Given the description of an element on the screen output the (x, y) to click on. 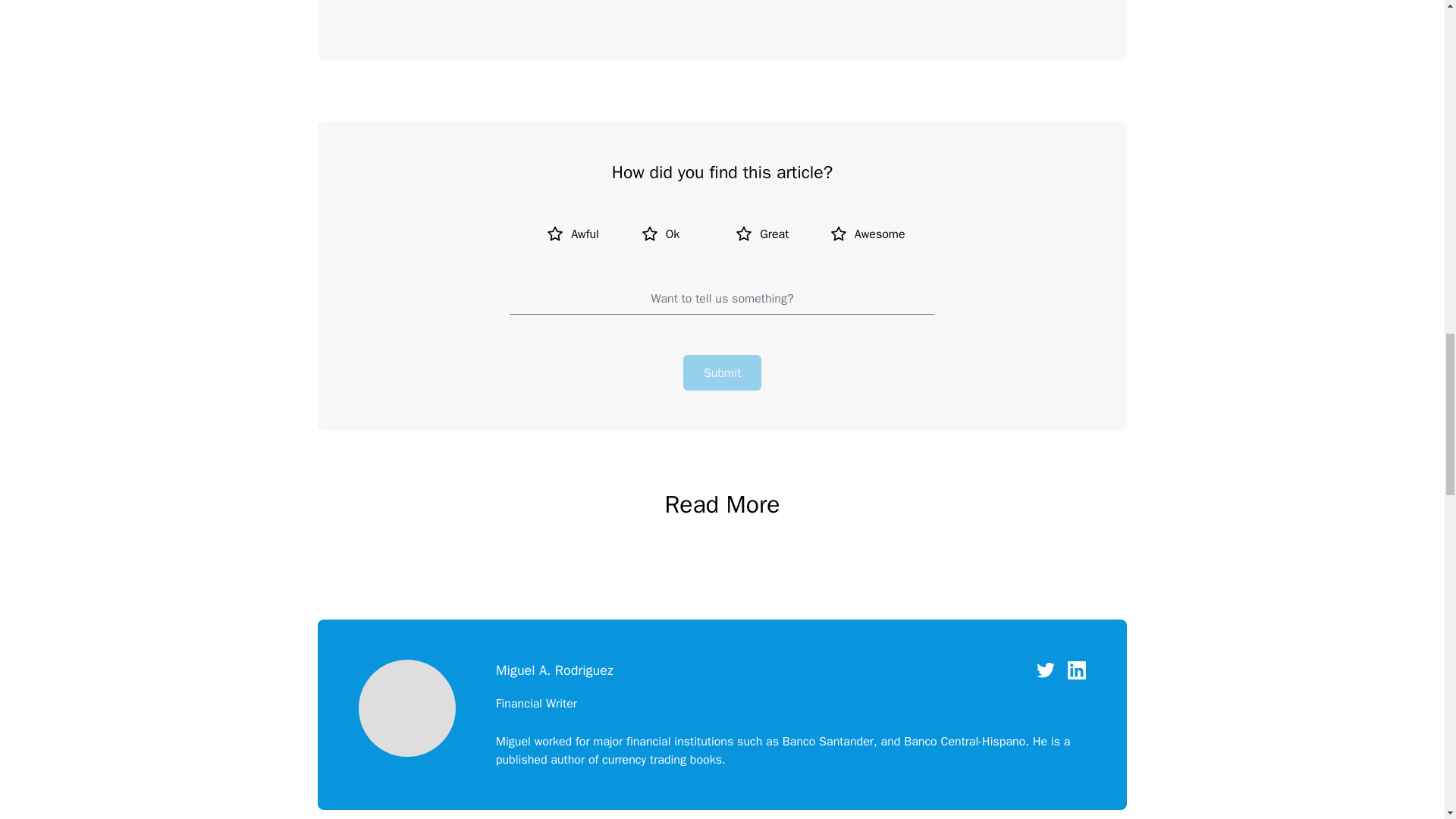
Article Hero (675, 29)
Article Hero (721, 29)
Miguel A. Rodriguez (406, 709)
Article Hero (768, 29)
